Given the description of an element on the screen output the (x, y) to click on. 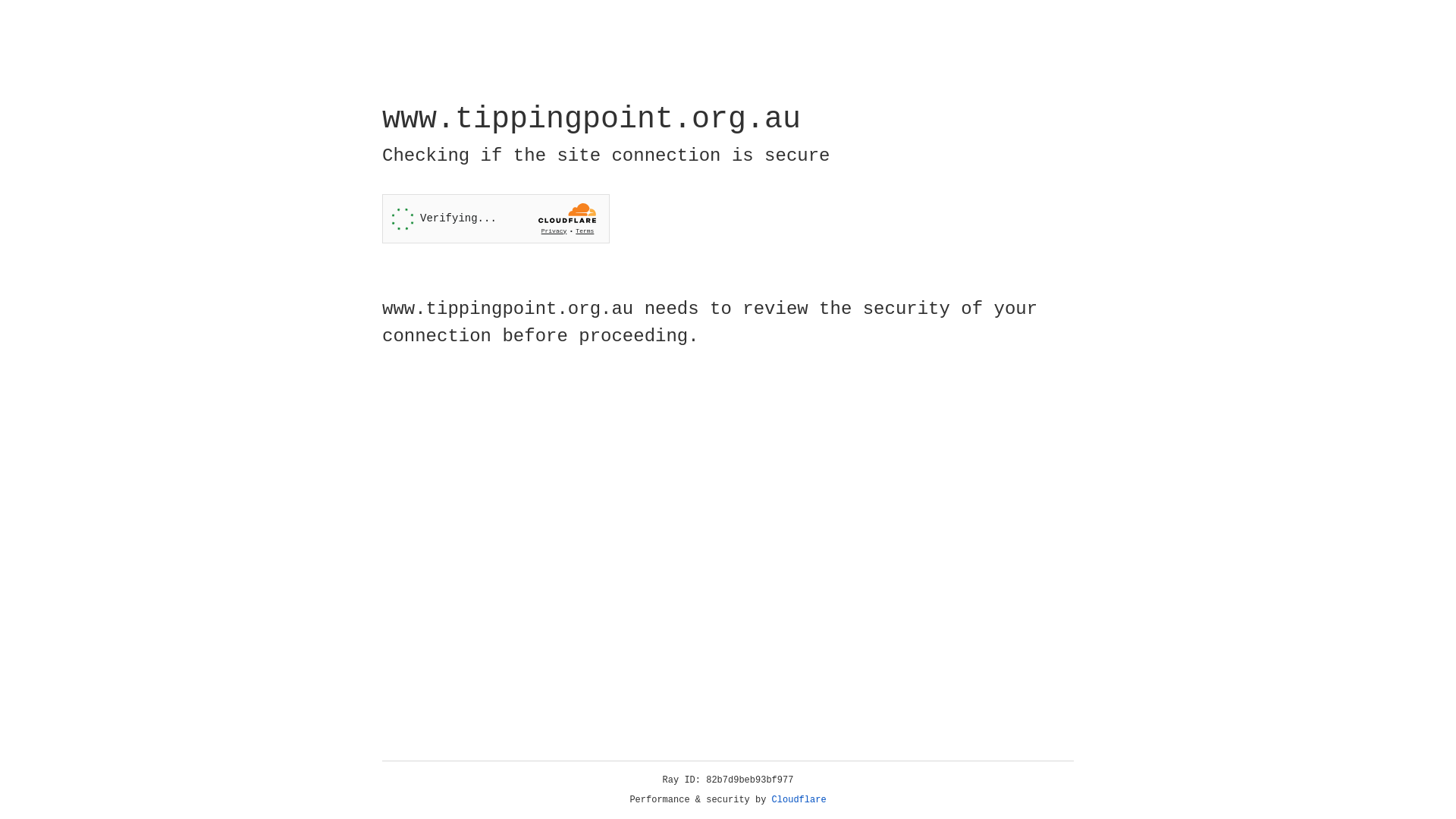
Widget containing a Cloudflare security challenge Element type: hover (495, 218)
Cloudflare Element type: text (798, 799)
